Given the description of an element on the screen output the (x, y) to click on. 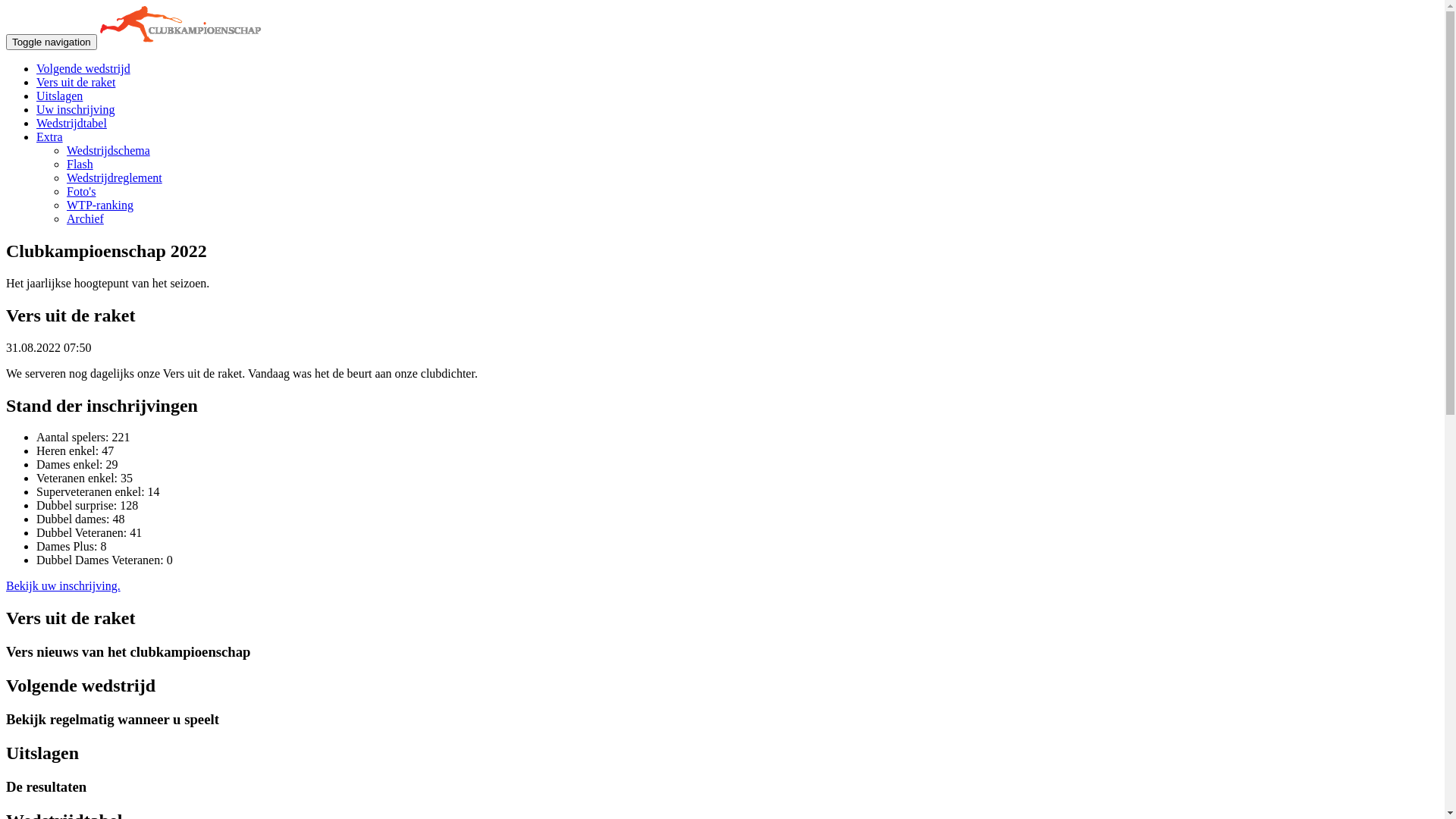
Extra Element type: text (49, 136)
Toggle navigation Element type: text (51, 42)
Flash Element type: text (79, 163)
Volgende wedstrijd Element type: text (83, 68)
Wedstrijdtabel Element type: text (71, 122)
WTP-ranking Element type: text (99, 204)
Uw inschrijving Element type: text (75, 109)
Wedstrijdreglement Element type: text (114, 177)
Archief Element type: text (84, 218)
Vers uit de raket Element type: text (75, 81)
Foto's Element type: text (80, 191)
Uitslagen Element type: text (59, 95)
Wedstrijdschema Element type: text (108, 150)
Bekijk uw inschrijving. Element type: text (63, 585)
